Given the description of an element on the screen output the (x, y) to click on. 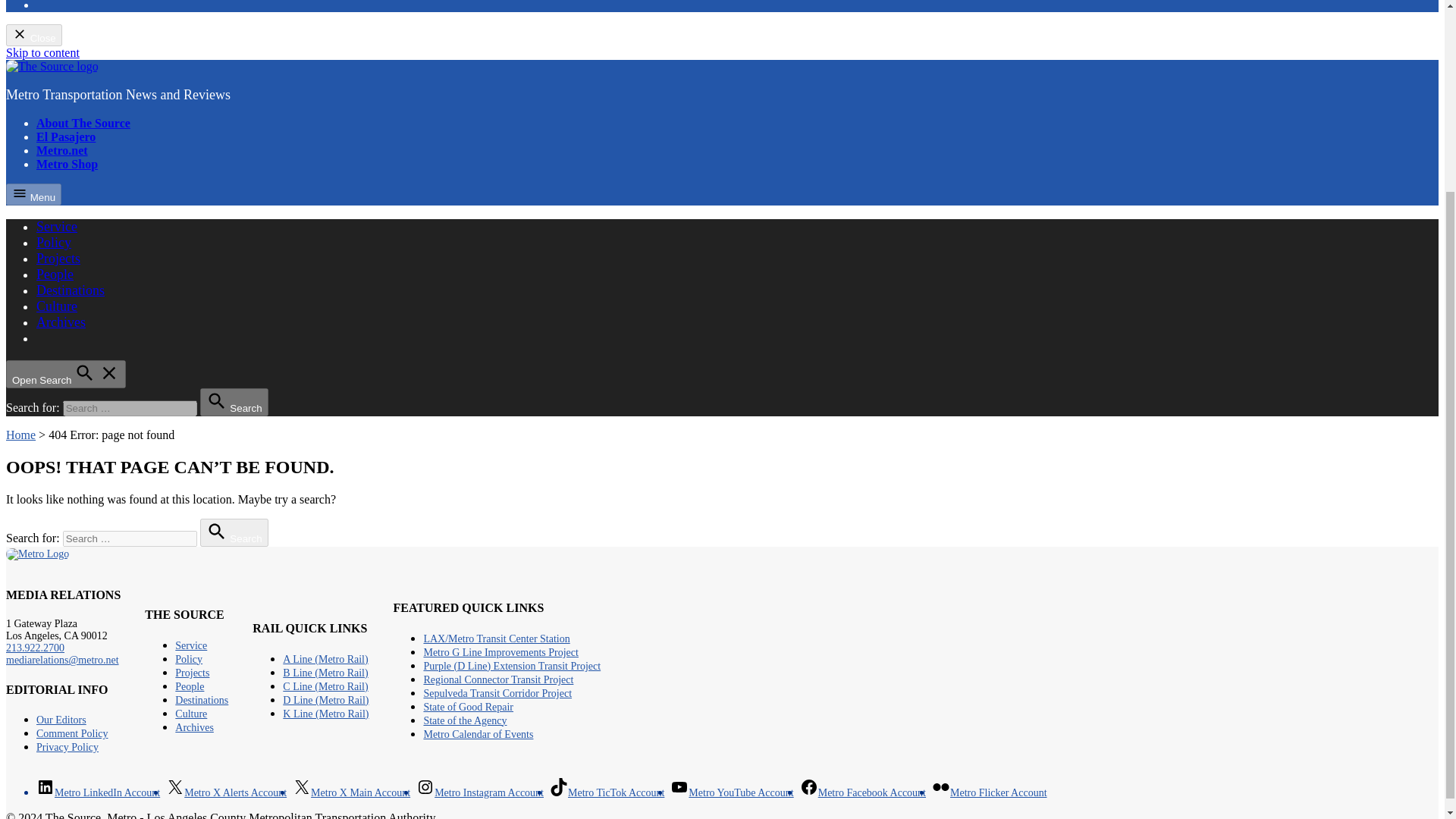
213.922.2700 (34, 647)
The Source (33, 105)
Our Editors (60, 719)
Menu (33, 194)
Comment Policy (71, 733)
Projects (58, 258)
Skip to content (42, 51)
Search (233, 402)
El Pasajero (66, 136)
Service (56, 226)
